Given the description of an element on the screen output the (x, y) to click on. 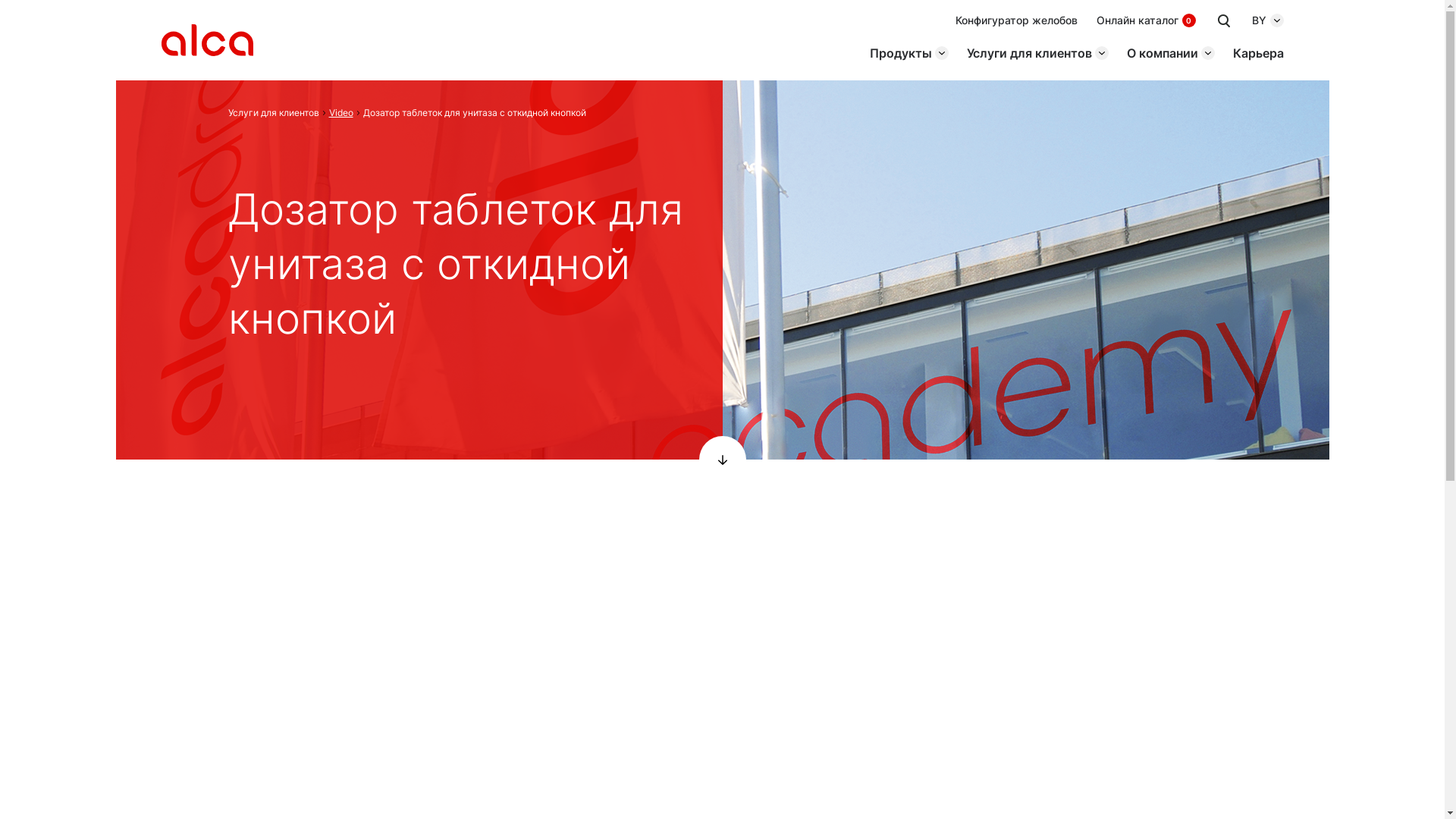
Video Element type: text (341, 112)
